Given the description of an element on the screen output the (x, y) to click on. 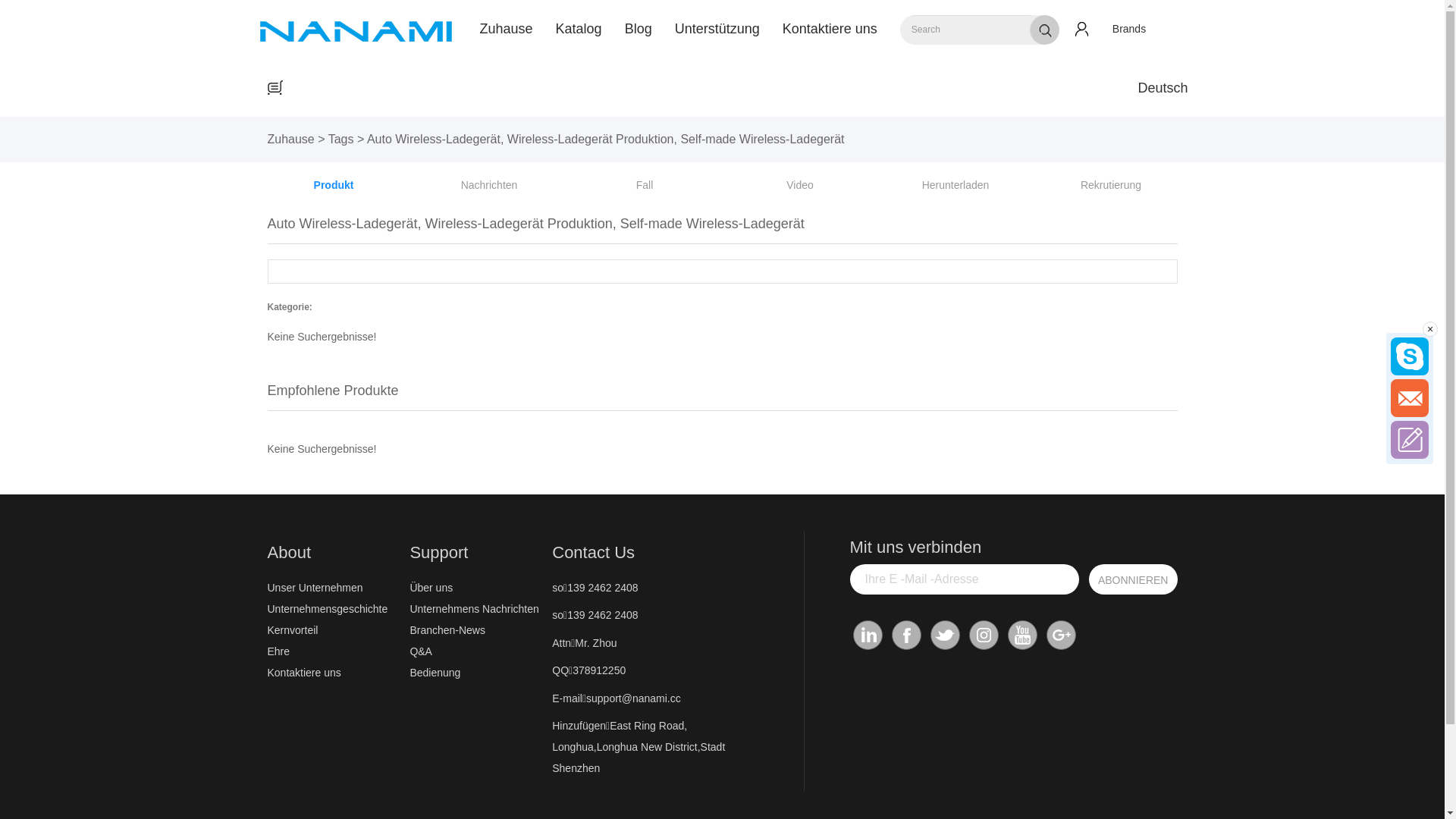
Fall Element type: text (644, 184)
Video Element type: text (799, 184)
Kontaktiere uns Element type: text (333, 672)
Herunterladen Element type: text (955, 184)
Nachrichten Element type: text (489, 184)
Katalog Element type: text (578, 29)
Zuhause Element type: text (506, 29)
Q&A Element type: text (476, 651)
Rekrutierung Element type: text (1110, 184)
Kernvorteil Element type: text (333, 629)
Kontaktiere uns Element type: text (829, 29)
Unternehmens Nachrichten Element type: text (476, 608)
Deutsch Element type: text (1162, 87)
Tags Element type: text (341, 138)
ABONNIEREN Element type: text (1132, 579)
Bedienung Element type: text (476, 672)
Branchen-News Element type: text (476, 629)
Zuhause Element type: text (289, 138)
Ehre Element type: text (333, 651)
Unser Unternehmen Element type: text (333, 587)
Blog Element type: text (638, 29)
Unternehmensgeschichte Element type: text (333, 608)
Produkt Element type: text (333, 184)
